Given the description of an element on the screen output the (x, y) to click on. 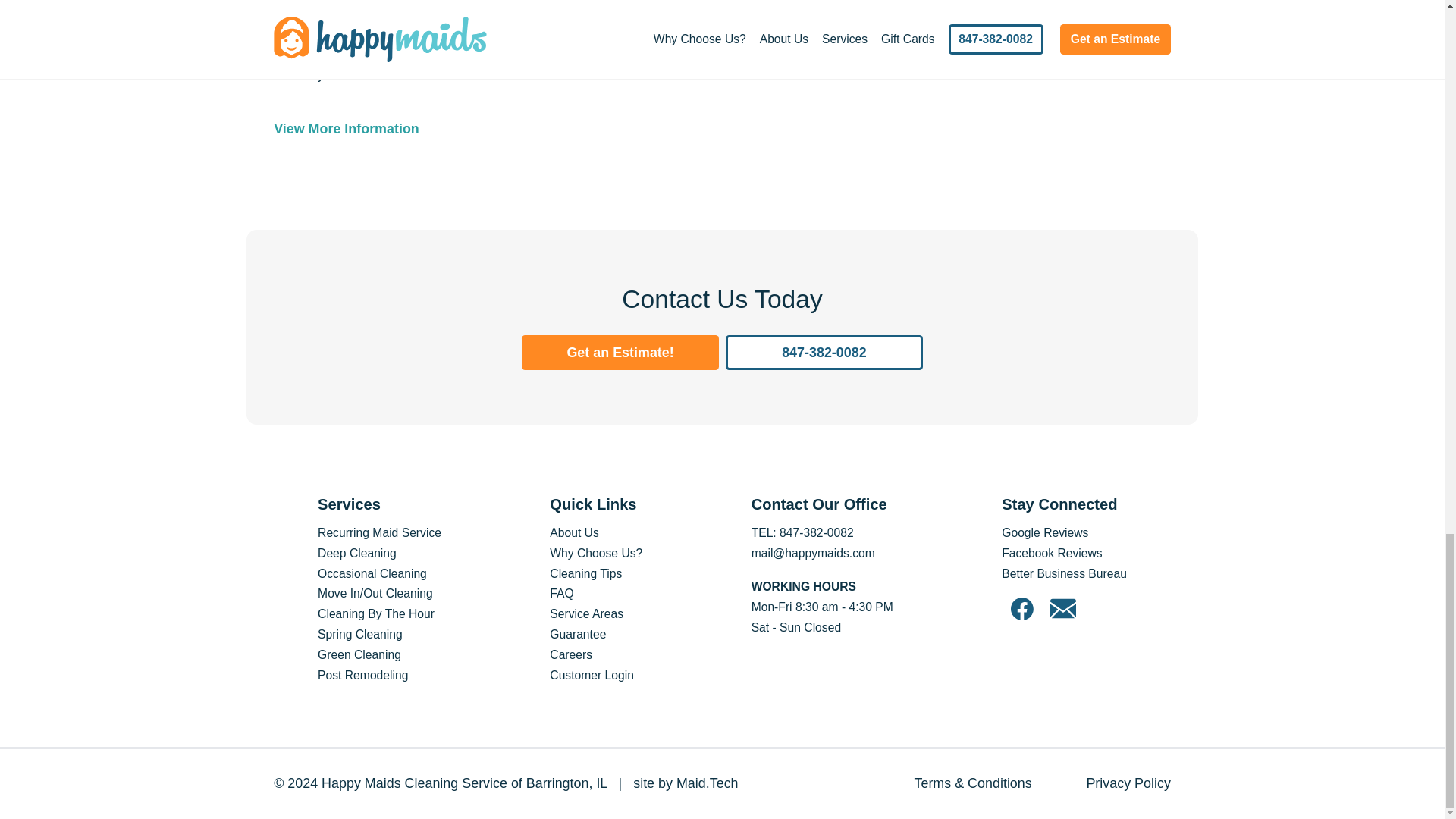
Get an Estimate! (620, 352)
Occasional Cleaning (371, 573)
FAQ (561, 593)
About Us (574, 532)
Service Areas (586, 613)
Cleaning By The Hour (375, 613)
847-382-0082 (824, 352)
Spring Cleaning (360, 634)
Recurring Maid Service (379, 532)
Why Choose Us? (596, 553)
Green Cleaning (359, 654)
Cleaning Tips (585, 573)
View More Information (484, 138)
Guarantee (577, 634)
Post Remodeling (362, 675)
